Given the description of an element on the screen output the (x, y) to click on. 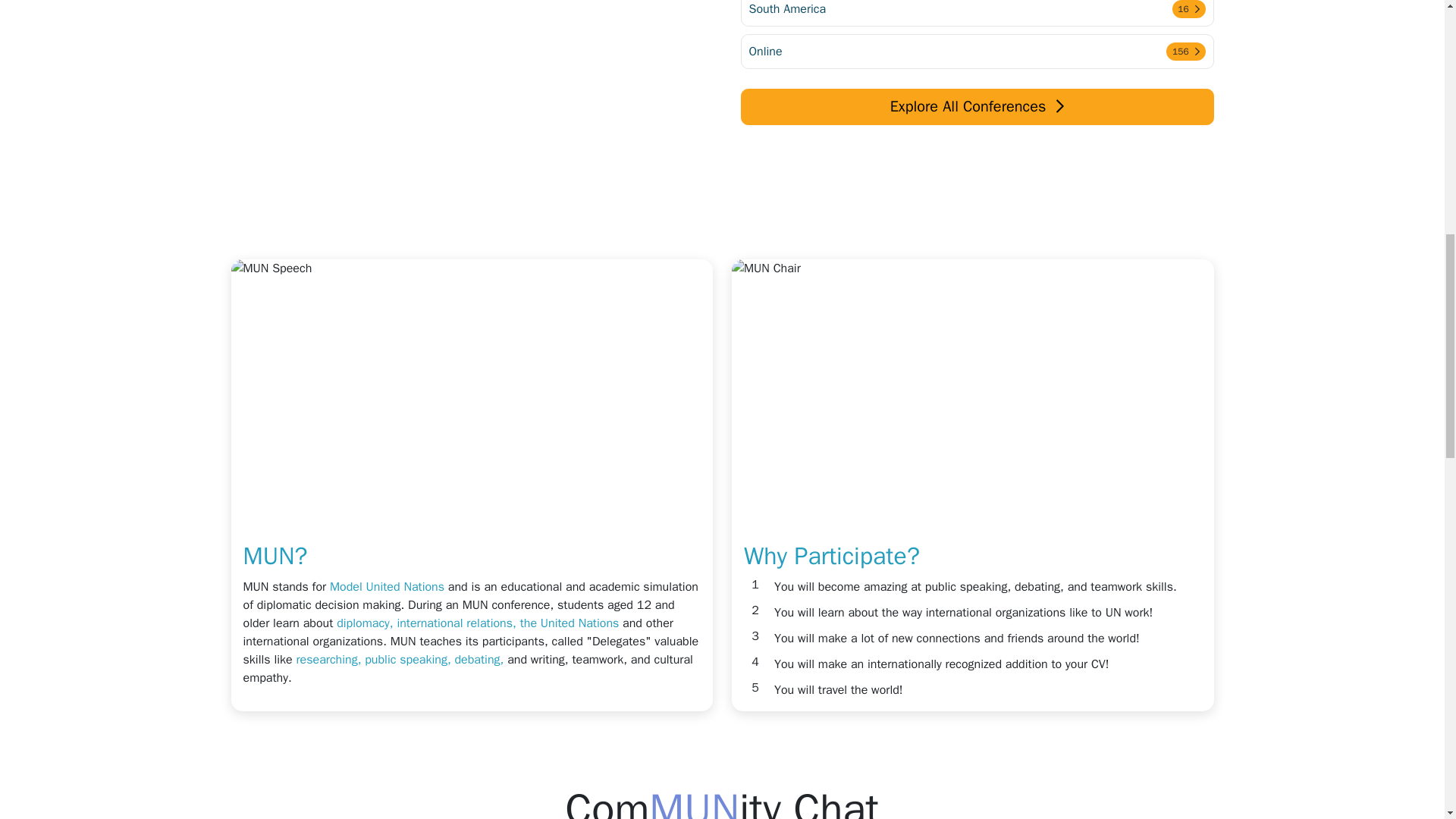
Browse Conferences in South America (975, 13)
Browse Online Conferences (975, 70)
Explore All Conferences (975, 13)
Browse All Conferences (975, 106)
